Given the description of an element on the screen output the (x, y) to click on. 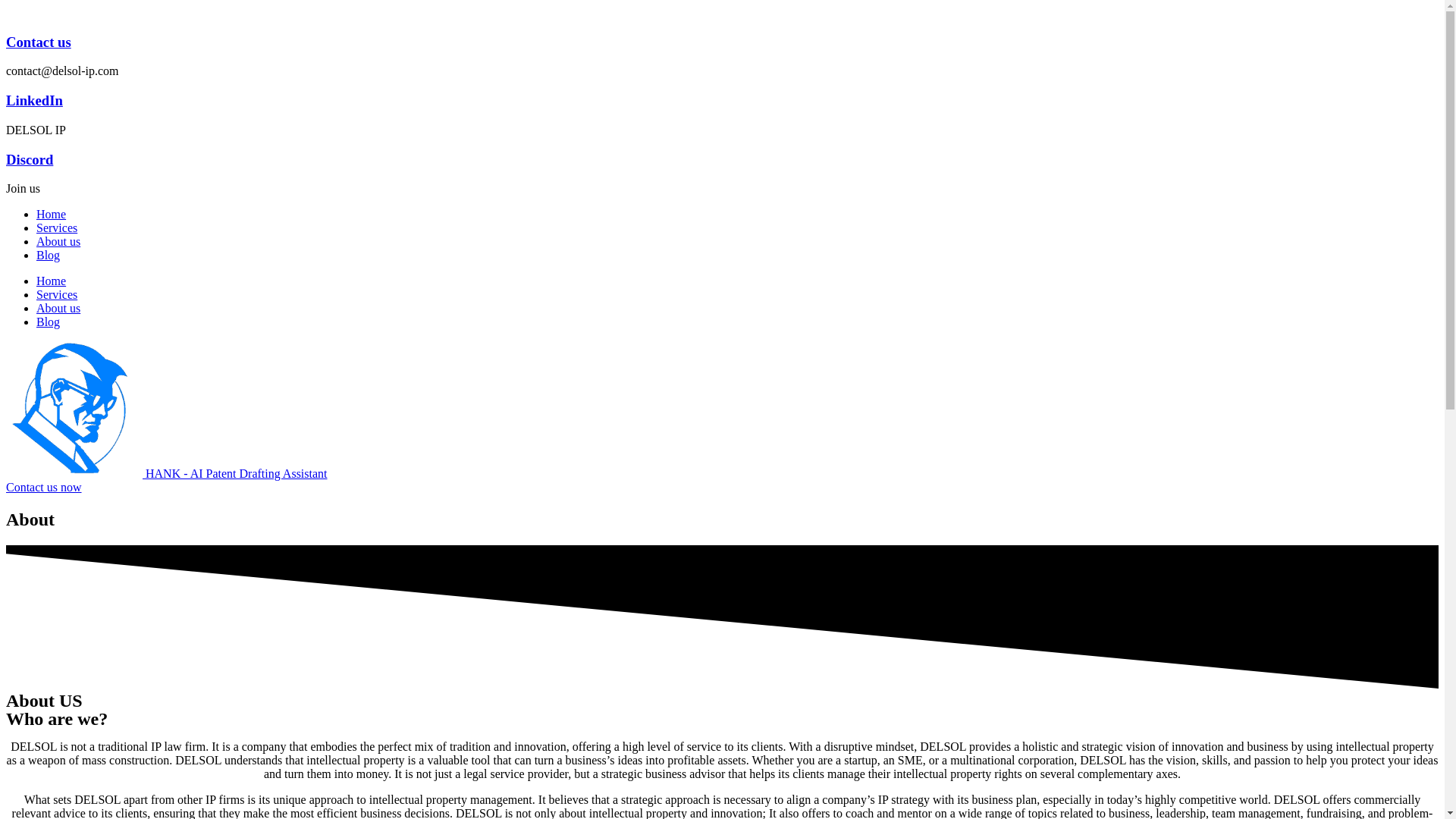
Services (56, 294)
Services (56, 227)
About us (58, 241)
Blog (47, 254)
Contact us now (43, 486)
Discord (28, 159)
LinkedIn (33, 100)
Home (50, 214)
Blog (47, 321)
Contact us (38, 41)
About us (58, 308)
HANK - AI Patent Drafting Assistant (166, 472)
Home (50, 280)
